Given the description of an element on the screen output the (x, y) to click on. 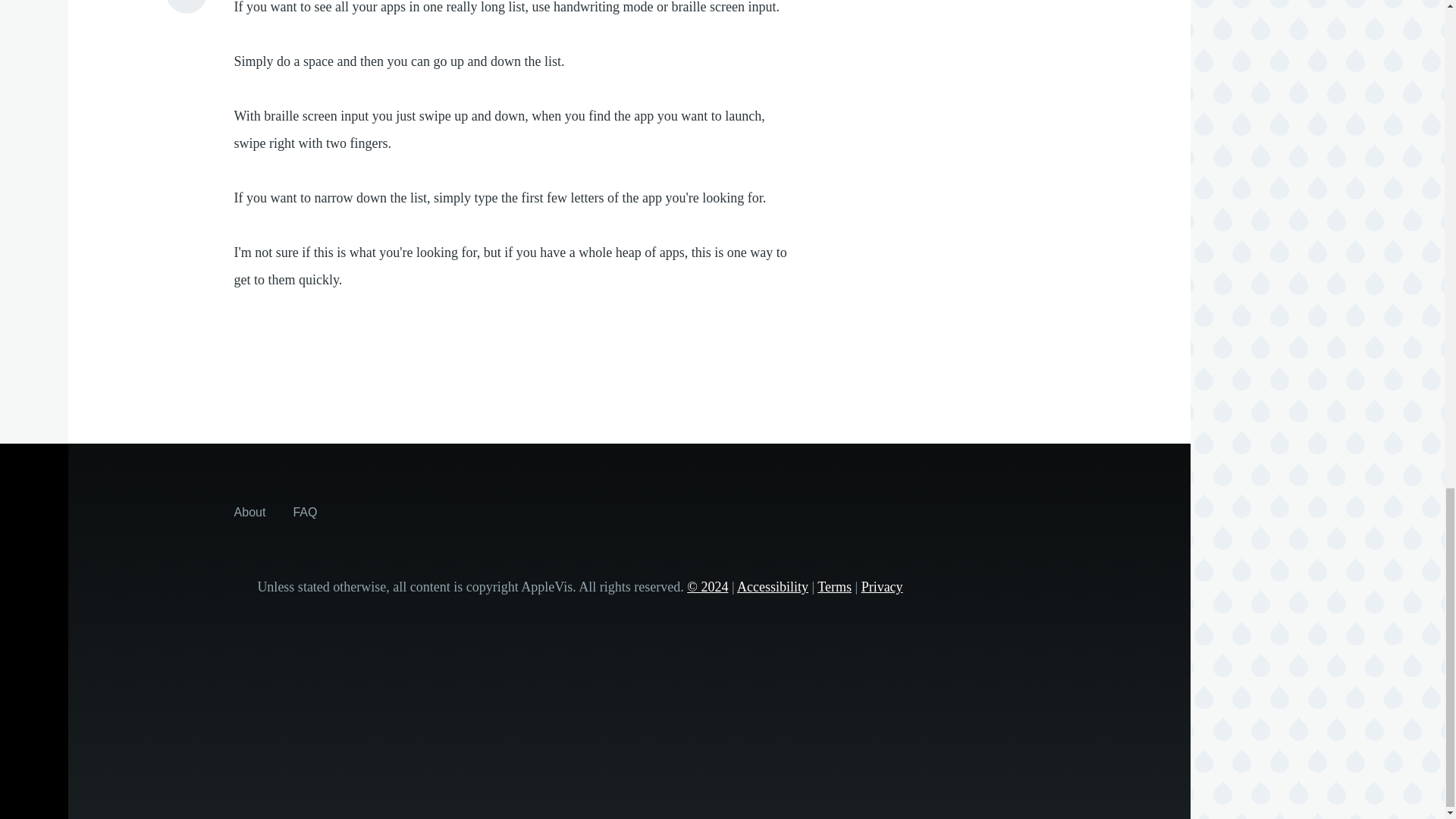
Terms (833, 586)
Privacy (881, 586)
Accessibility (772, 586)
About (250, 511)
About (250, 511)
FAQ (304, 511)
Answers to some frequently asked questions about AppleVis (304, 511)
